Given the description of an element on the screen output the (x, y) to click on. 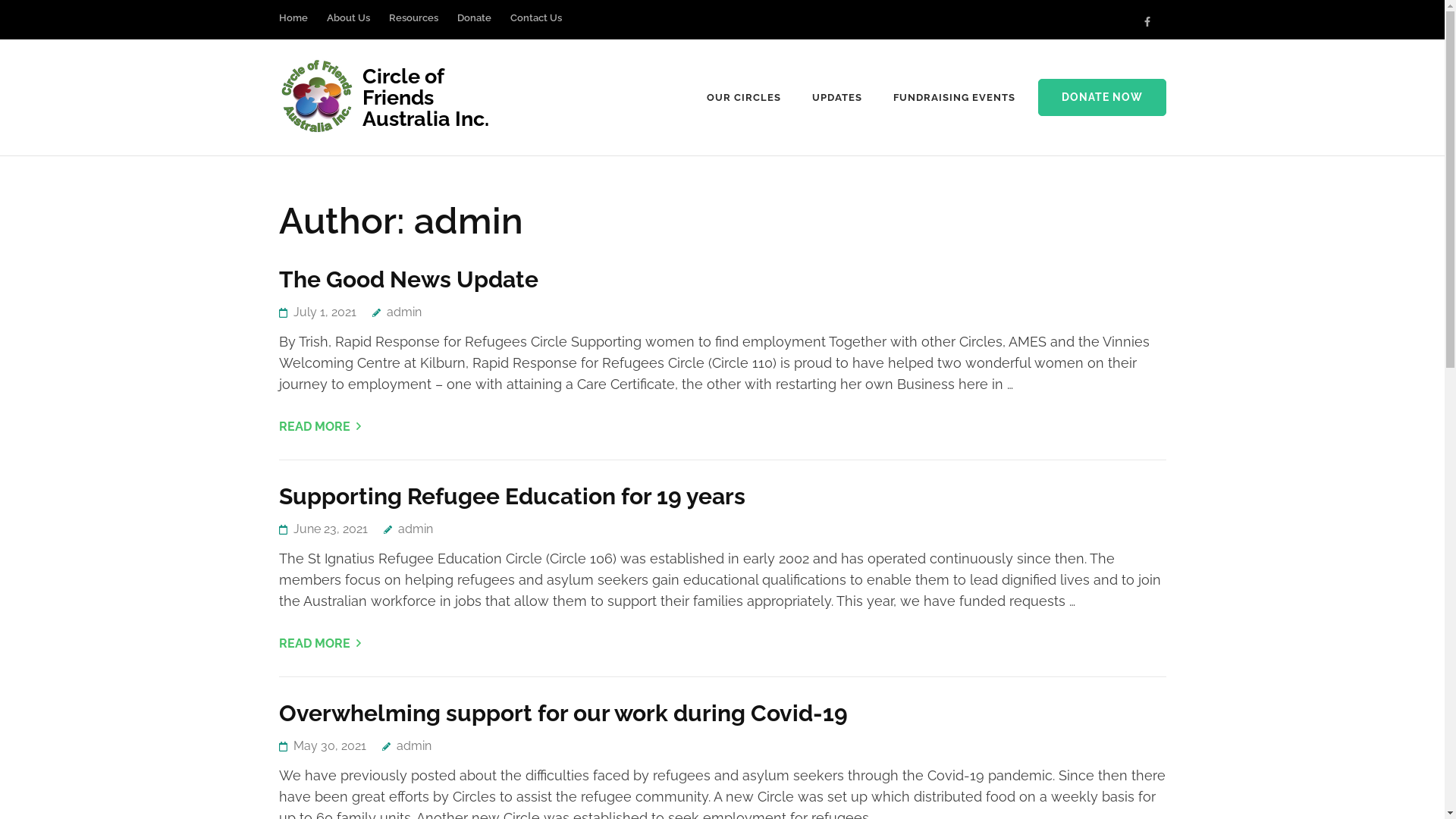
Home Element type: text (293, 25)
June 23, 2021 Element type: text (329, 528)
OUR CIRCLES Element type: text (743, 97)
Facebook Element type: hover (1147, 21)
Overwhelming support for our work during Covid-19 Element type: text (563, 712)
FUNDRAISING EVENTS Element type: text (954, 97)
READ MORE Element type: text (319, 643)
May 30, 2021 Element type: text (328, 745)
Supporting Refugee Education for 19 years Element type: text (512, 496)
admin Element type: text (406, 745)
READ MORE Element type: text (319, 426)
UPDATES Element type: text (837, 97)
Donate Element type: text (473, 25)
Circle of Friends Australia Inc. Element type: text (425, 97)
About Us Element type: text (347, 25)
July 1, 2021 Element type: text (323, 311)
The Good News Update Element type: text (408, 279)
DONATE NOW Element type: text (1101, 97)
admin Element type: text (408, 528)
Contact Us Element type: text (535, 25)
Resources Element type: text (412, 25)
admin Element type: text (395, 311)
